Given the description of an element on the screen output the (x, y) to click on. 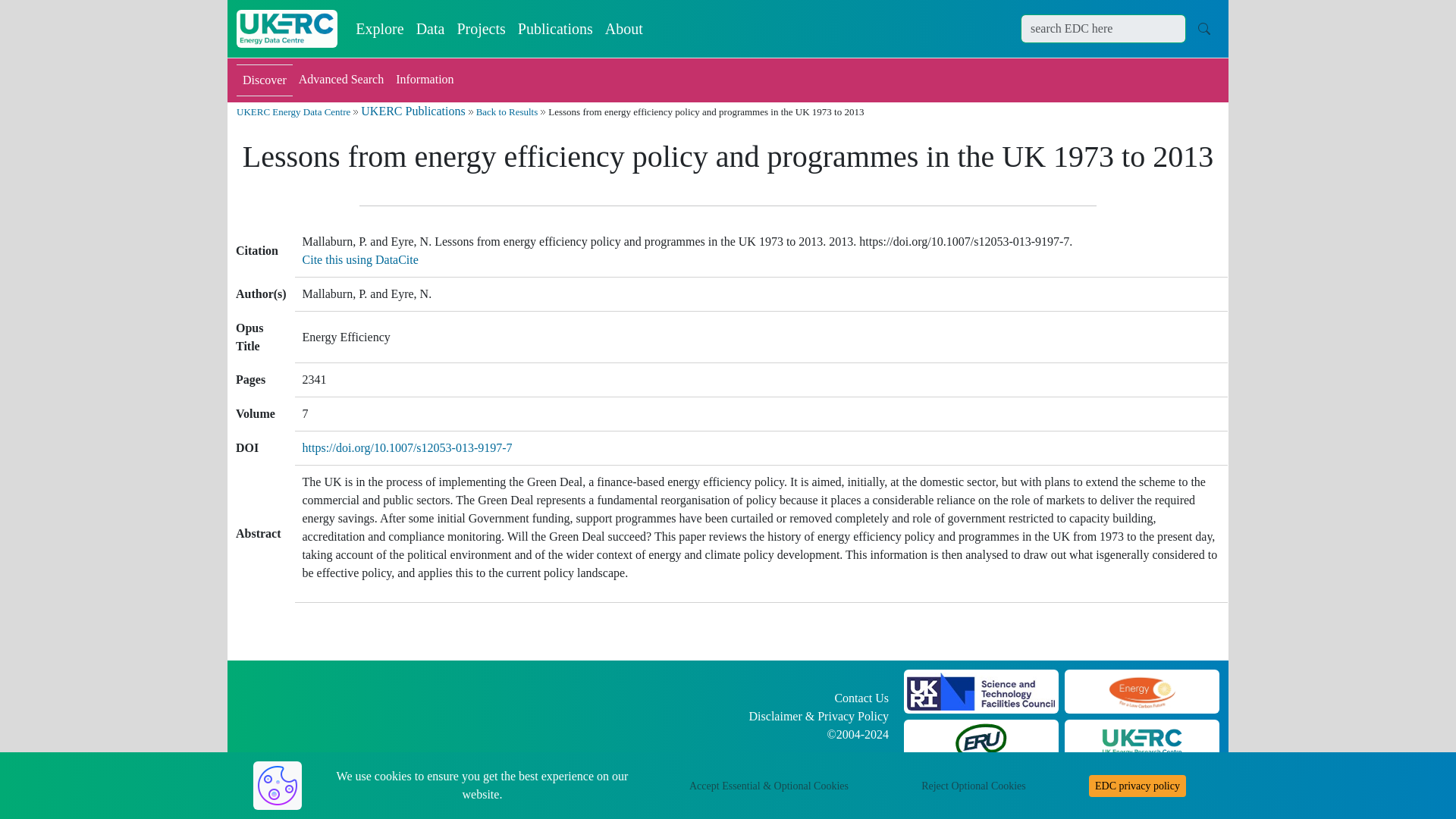
About (623, 28)
Information (425, 80)
Contact Us (861, 697)
Disclaimer (775, 716)
Explore (379, 28)
UKERC Energy Data Centre (292, 111)
Projects (480, 28)
Back to Results (507, 111)
Publications (555, 28)
Data (430, 28)
Advanced Search (341, 80)
Go (1204, 27)
Cite this using DataCite (360, 259)
Discover (263, 80)
UKERC Publications (412, 110)
